Given the description of an element on the screen output the (x, y) to click on. 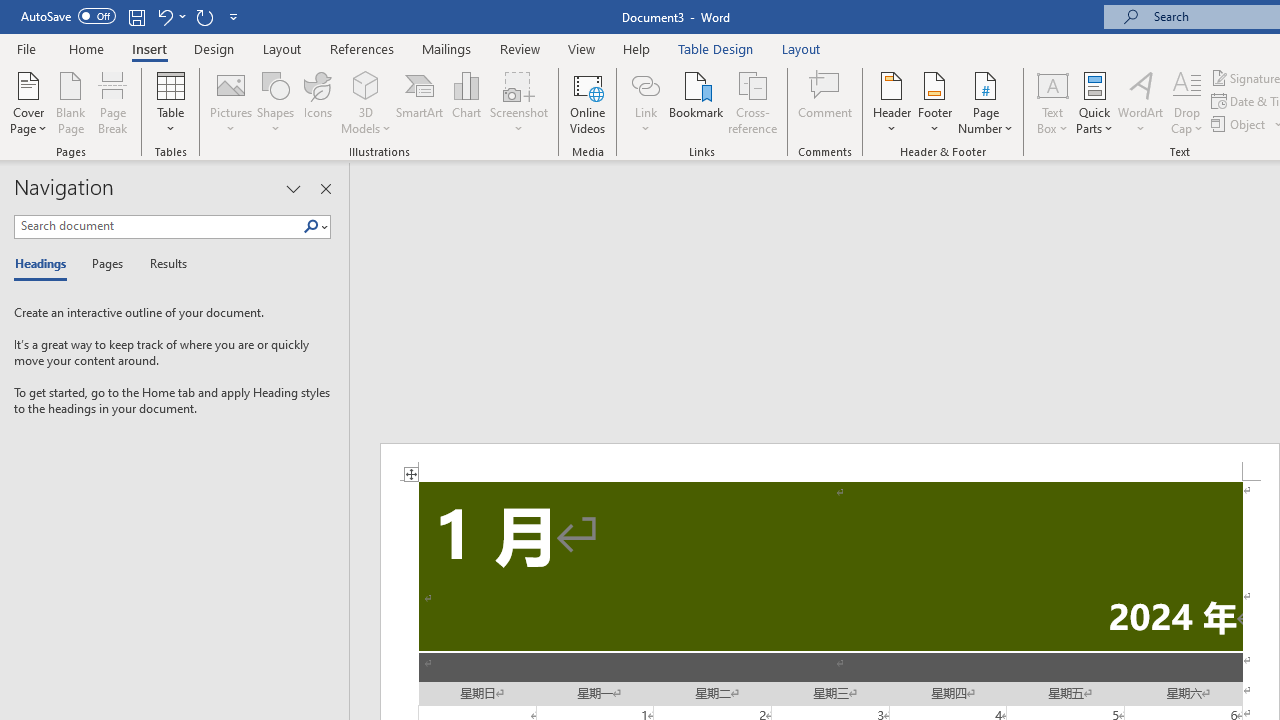
Bookmark... (695, 102)
Blank Page (70, 102)
Results (161, 264)
Close pane (325, 188)
Search document (157, 226)
Link (645, 102)
File Tab (26, 48)
Review (520, 48)
Class: NetUIImage (311, 226)
Cross-reference... (752, 102)
Drop Cap (1187, 102)
Headings (45, 264)
Header (891, 102)
Mailings (447, 48)
3D Models (366, 102)
